Given the description of an element on the screen output the (x, y) to click on. 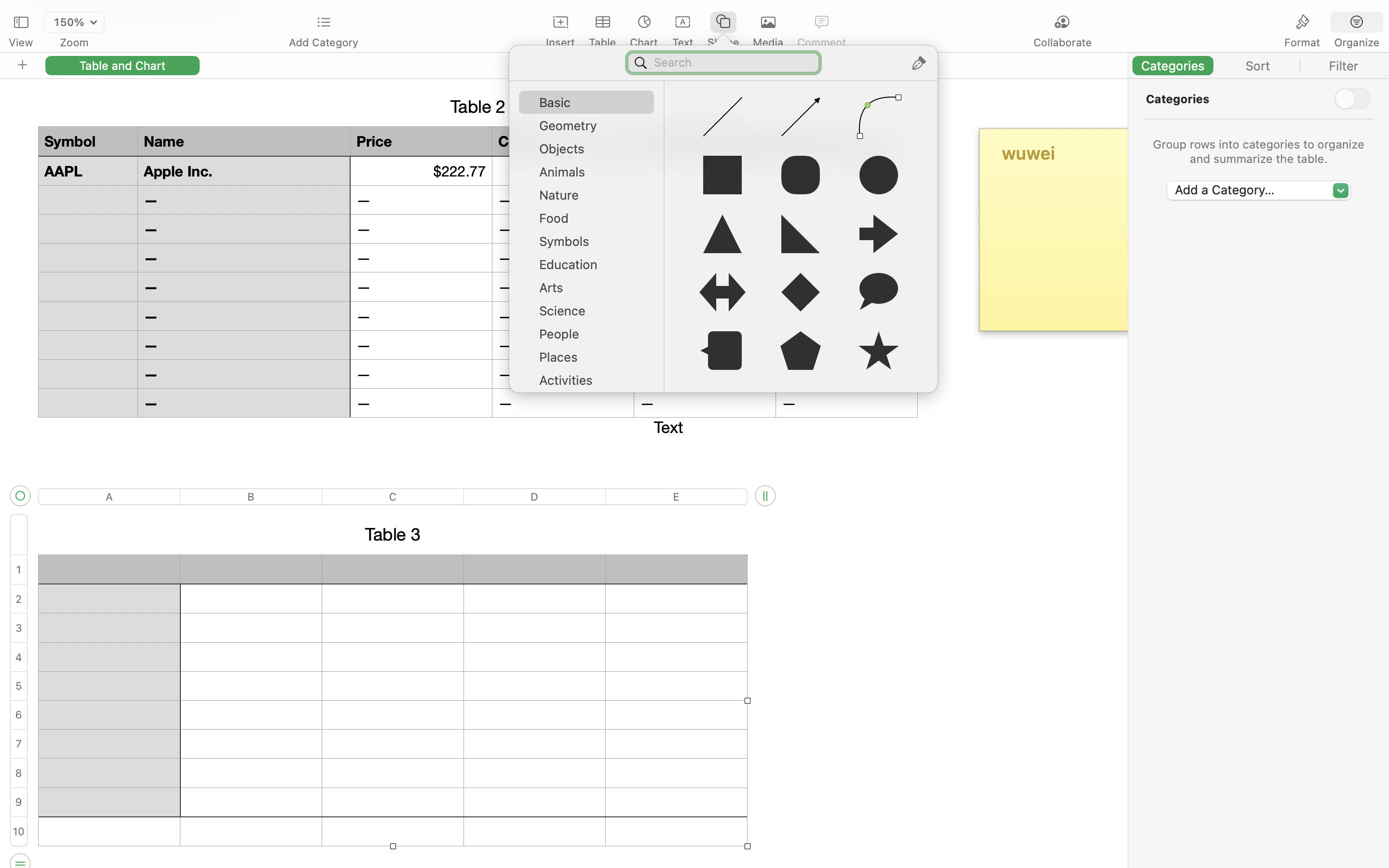
Activities Element type: AXStaticText (591, 383)
Zoom Element type: AXStaticText (73, 42)
Add Category Element type: AXStaticText (322, 42)
<AXUIElement 0x283466660> {pid=1420} Element type: AXGroup (1329, 22)
Untitled Element type: AXStaticText (667, 12)
